Given the description of an element on the screen output the (x, y) to click on. 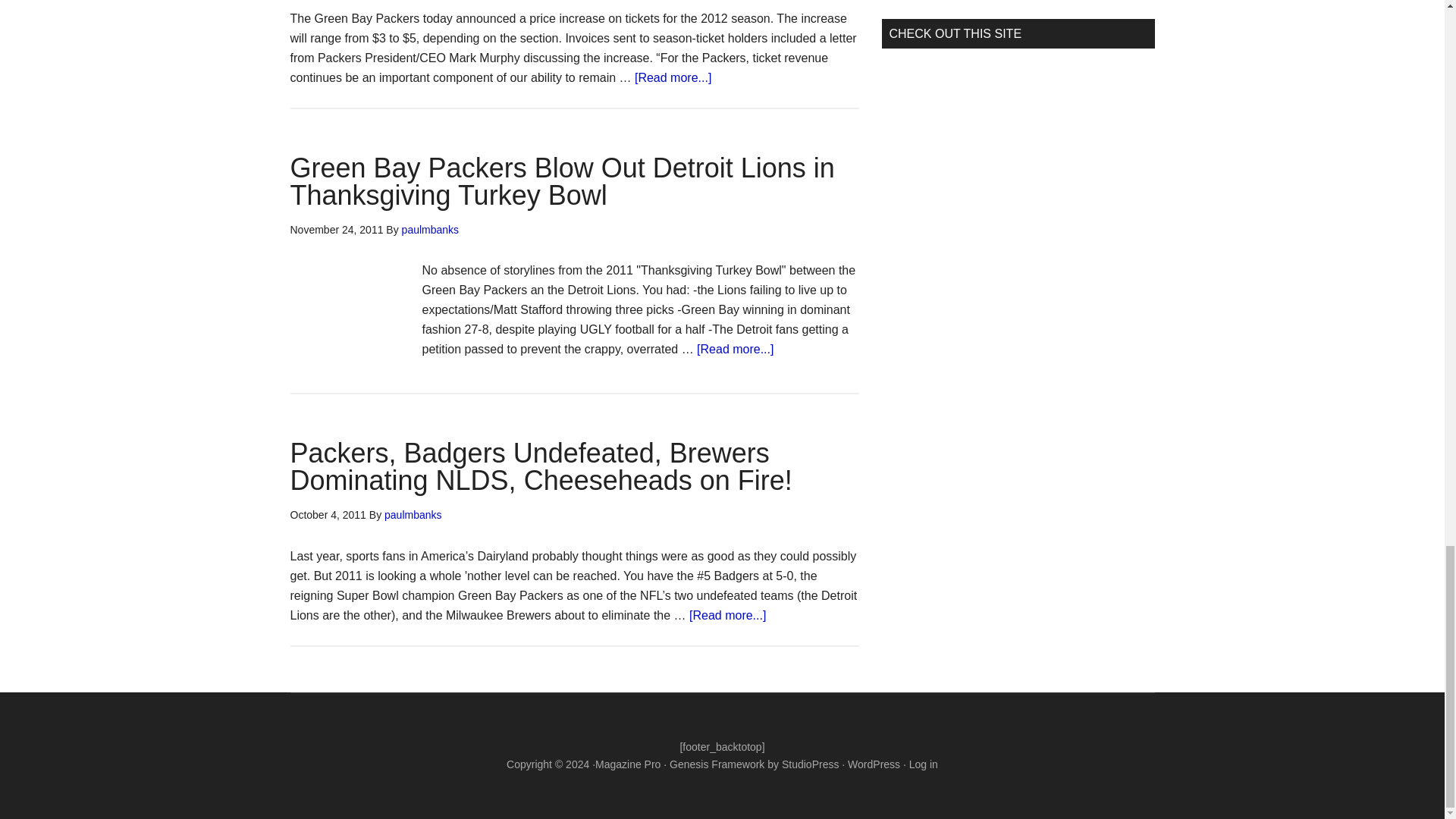
paulmbanks (430, 228)
paulmbanks (413, 514)
